Given the description of an element on the screen output the (x, y) to click on. 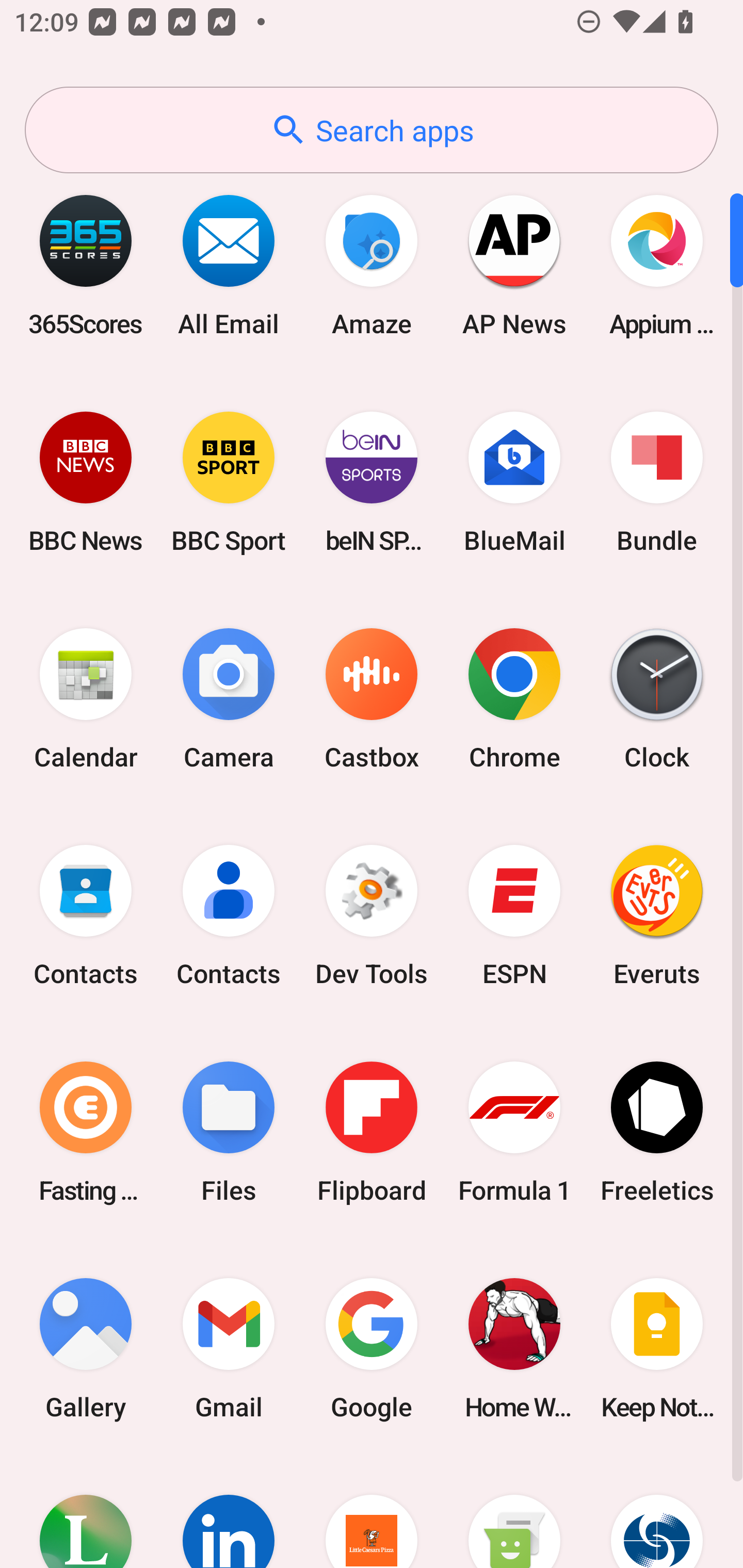
  Search apps (371, 130)
365Scores (85, 264)
All Email (228, 264)
Amaze (371, 264)
AP News (514, 264)
Appium Settings (656, 264)
BBC News (85, 482)
BBC Sport (228, 482)
beIN SPORTS (371, 482)
BlueMail (514, 482)
Bundle (656, 482)
Calendar (85, 699)
Camera (228, 699)
Castbox (371, 699)
Chrome (514, 699)
Clock (656, 699)
Contacts (85, 915)
Contacts (228, 915)
Dev Tools (371, 915)
ESPN (514, 915)
Everuts (656, 915)
Fasting Coach (85, 1131)
Files (228, 1131)
Flipboard (371, 1131)
Formula 1 (514, 1131)
Freeletics (656, 1131)
Gallery (85, 1348)
Gmail (228, 1348)
Google (371, 1348)
Home Workout (514, 1348)
Keep Notes (656, 1348)
